Given the description of an element on the screen output the (x, y) to click on. 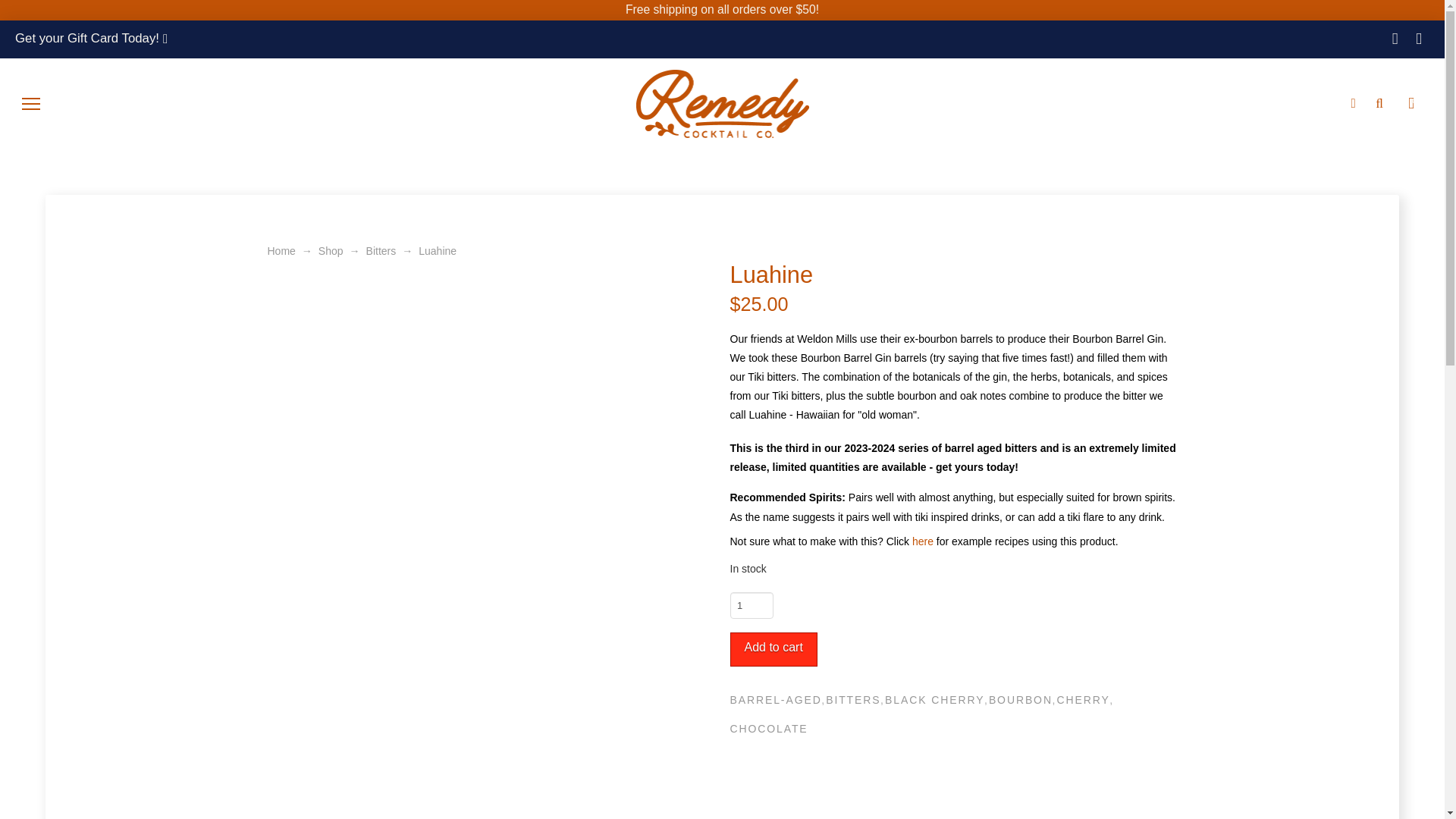
You Are Here (438, 250)
Get your Gift Card Today! (90, 38)
CHERRY (1082, 699)
Shop (330, 250)
BITTERS (852, 699)
here (922, 541)
BARREL-AGED (774, 699)
Bitters (381, 250)
1 (751, 605)
View our Instagram feed (1394, 38)
View our Facebook page (1418, 38)
Add to cart (772, 649)
CHOCOLATE (767, 729)
BLACK CHERRY (933, 699)
BOURBON (1019, 699)
